Given the description of an element on the screen output the (x, y) to click on. 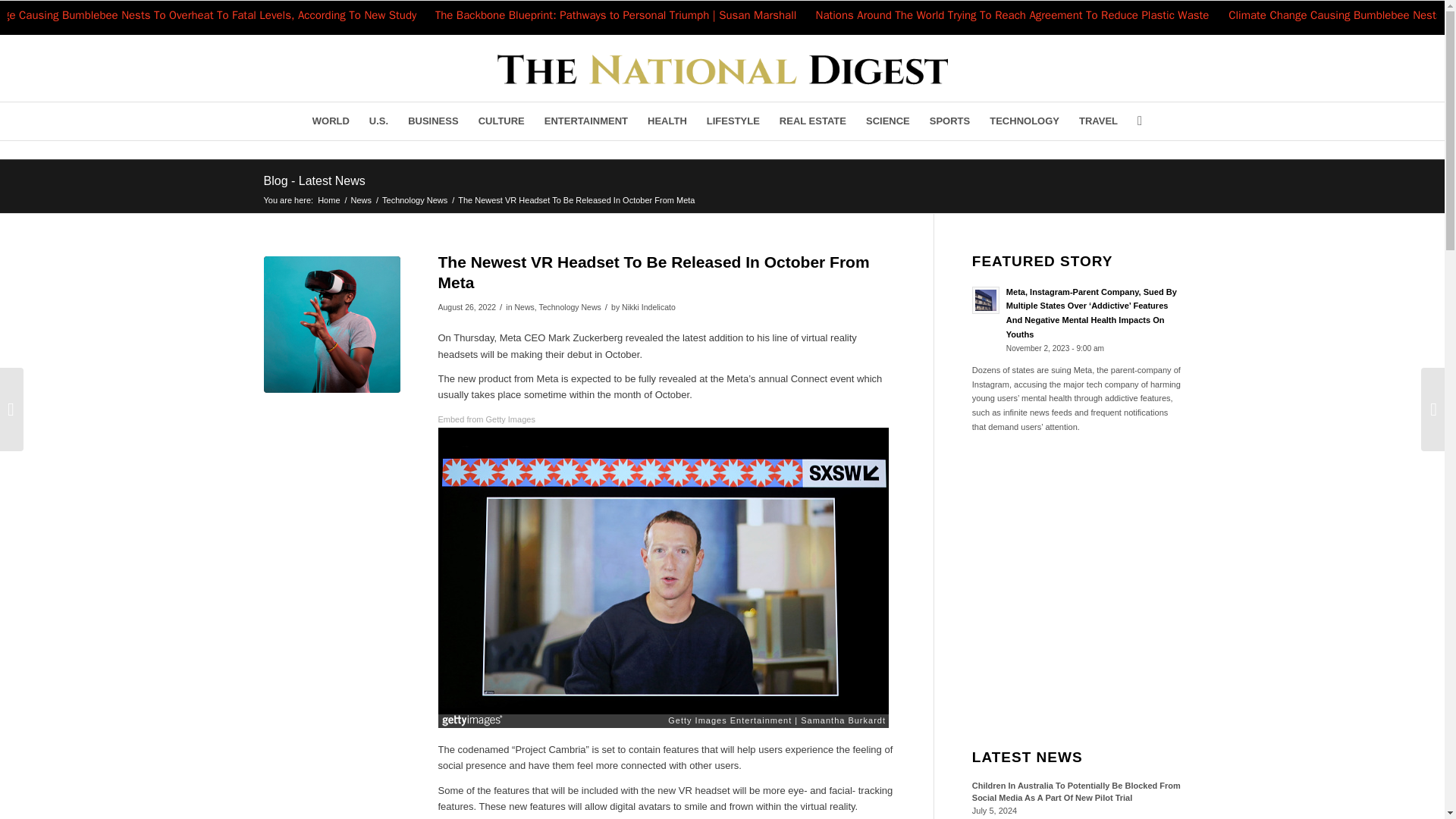
CULTURE (501, 121)
Embed from Getty Images (486, 419)
News (361, 199)
HEALTH (667, 121)
The National Digest (328, 199)
Technology News (568, 307)
Blog - Latest News (314, 180)
Permanent Link: Blog - Latest News (314, 180)
BUSINESS (432, 121)
News (523, 307)
TRAVEL (1097, 121)
TECHNOLOGY (1023, 121)
virtualrealty (331, 324)
SCIENCE (888, 121)
SPORTS (949, 121)
